Given the description of an element on the screen output the (x, y) to click on. 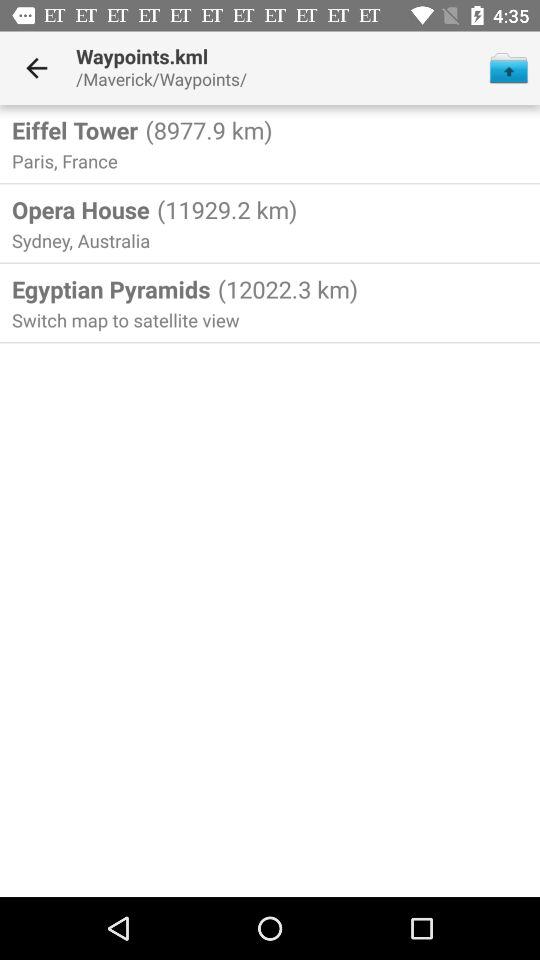
select sydney, australia (83, 240)
